Given the description of an element on the screen output the (x, y) to click on. 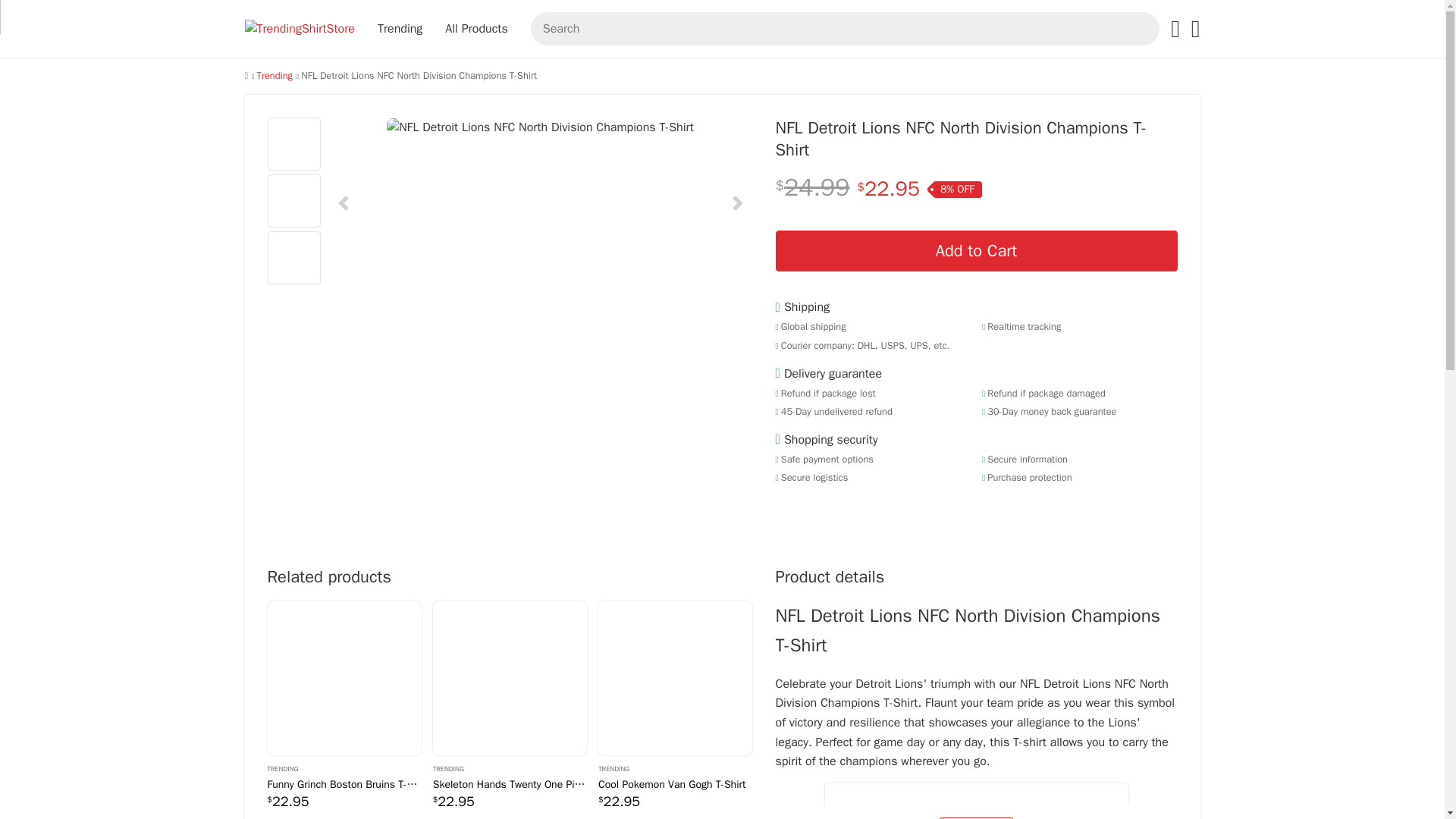
Skeleton Hands Twenty One Pilots T-Shirt (509, 677)
Funny Grinch Boston Bruins T-Shirt (343, 784)
NFL Detroit Lions NFC North Division Champions T-Shirt (540, 126)
Funny Grinch Boston Bruins T-Shirt (343, 677)
Trending (274, 75)
Trending (343, 767)
Funny Grinch Boston Bruins T-Shirt (343, 678)
Trending (274, 75)
Cool Pokemon Van Gogh T-Shirt (675, 677)
Funny Grinch Boston Bruins T-Shirt (343, 784)
